Given the description of an element on the screen output the (x, y) to click on. 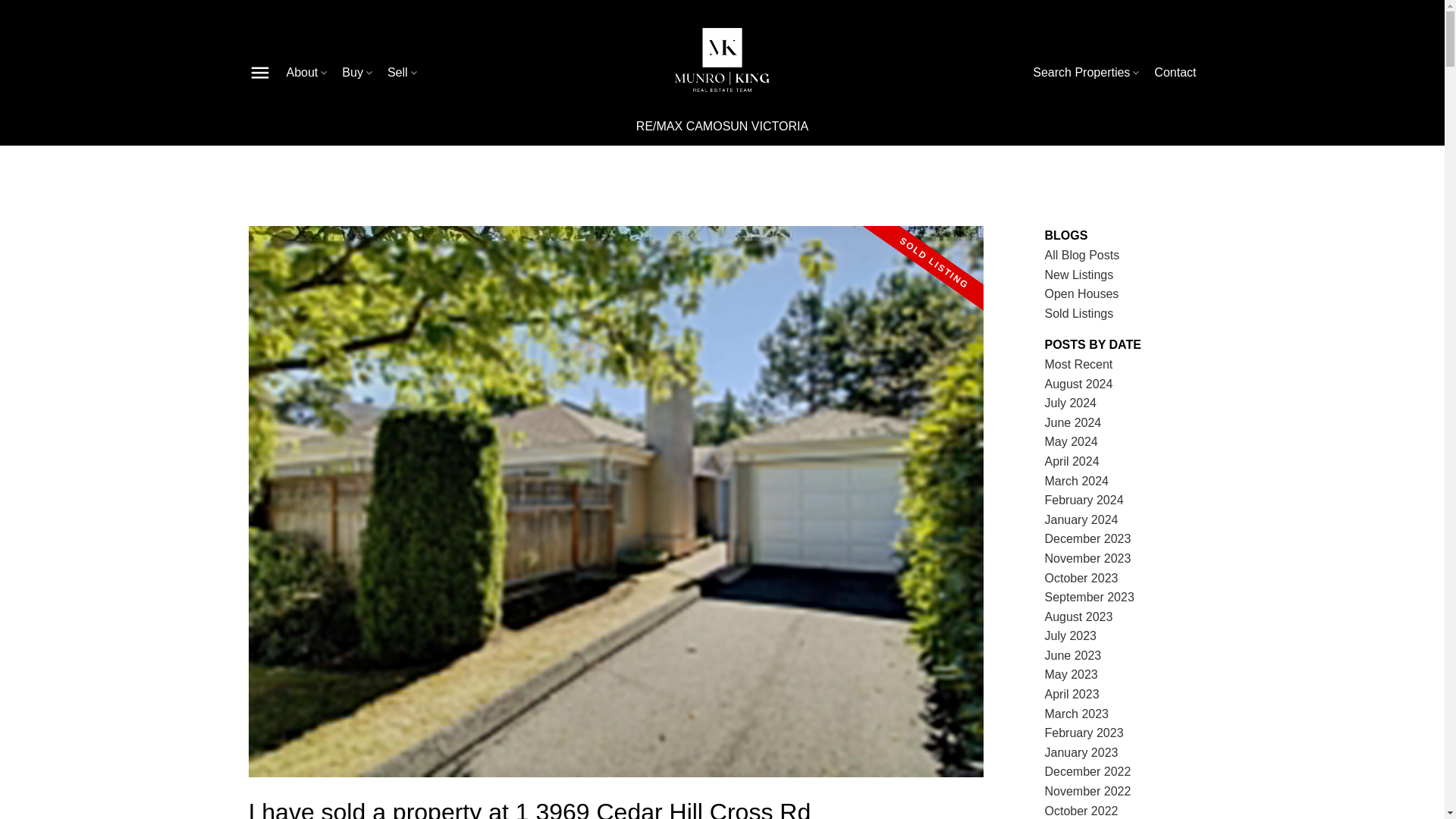
Contact (1174, 72)
Sell (403, 72)
December 2023 (1088, 538)
February 2024 (1084, 499)
January 2024 (1081, 519)
New Listings (1079, 274)
August 2024 (1079, 383)
Sold Listings (1079, 313)
Most Recent (1079, 364)
October 2023 (1081, 577)
Buy (358, 72)
June 2024 (1073, 422)
March 2024 (1077, 481)
Search Properties (1086, 72)
November 2023 (1088, 558)
